Given the description of an element on the screen output the (x, y) to click on. 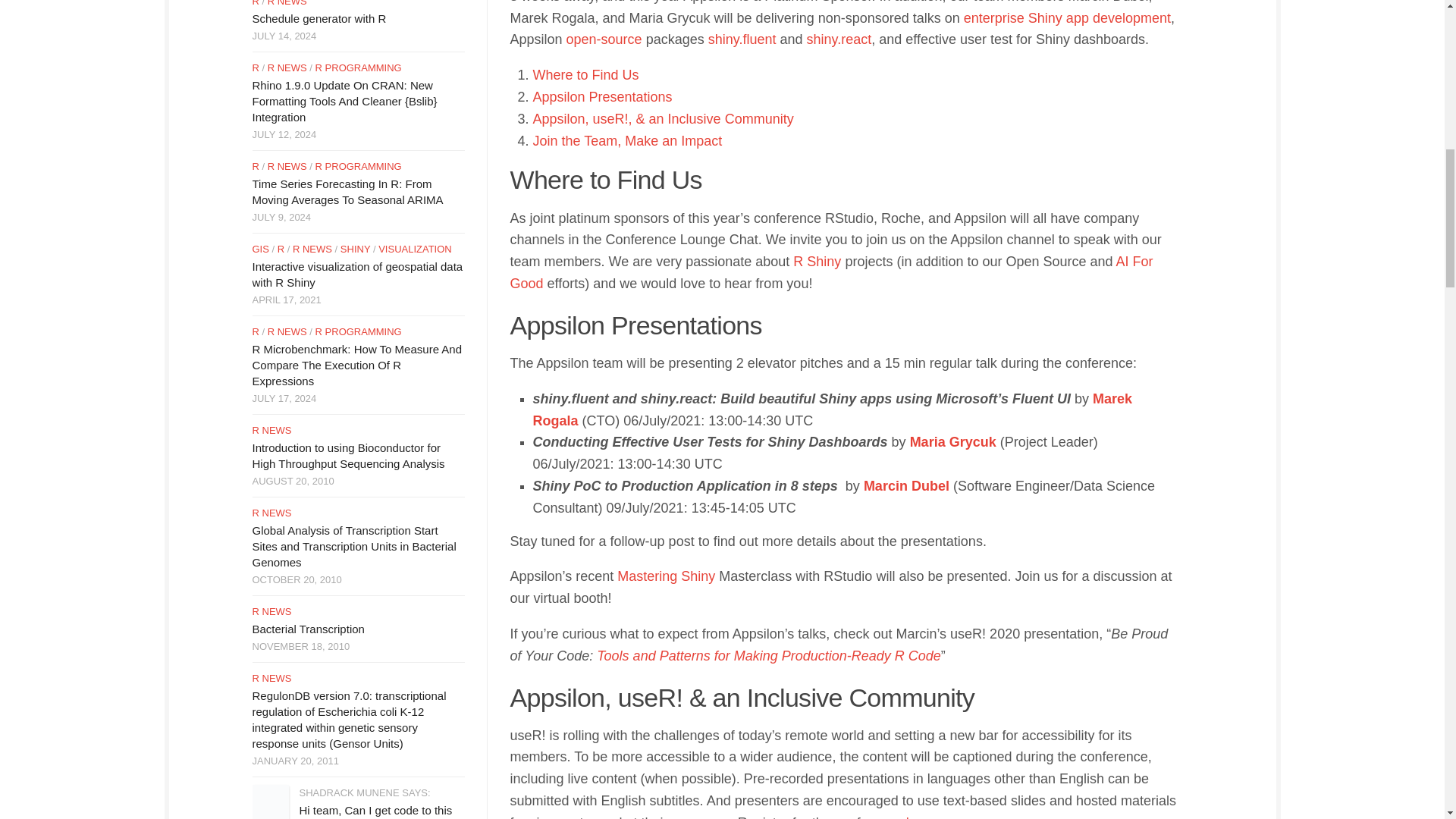
open-source (604, 38)
shiny.react (838, 38)
Where to Find Us (585, 74)
enterprise Shiny app development (1066, 17)
shiny.fluent (741, 38)
